Given the description of an element on the screen output the (x, y) to click on. 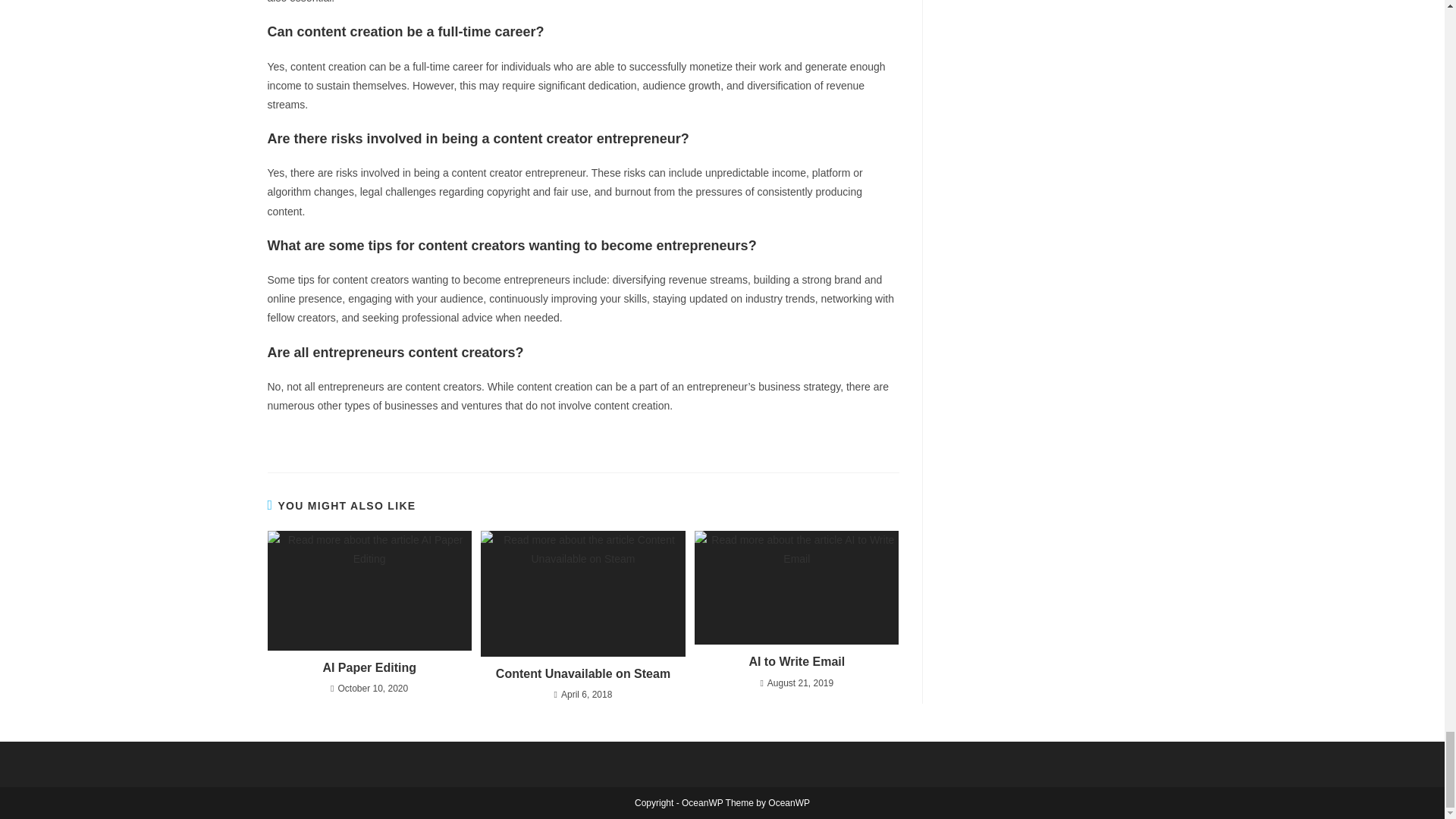
Content Unavailable on Steam (582, 673)
AI to Write Email (796, 661)
AI Paper Editing (368, 668)
